Given the description of an element on the screen output the (x, y) to click on. 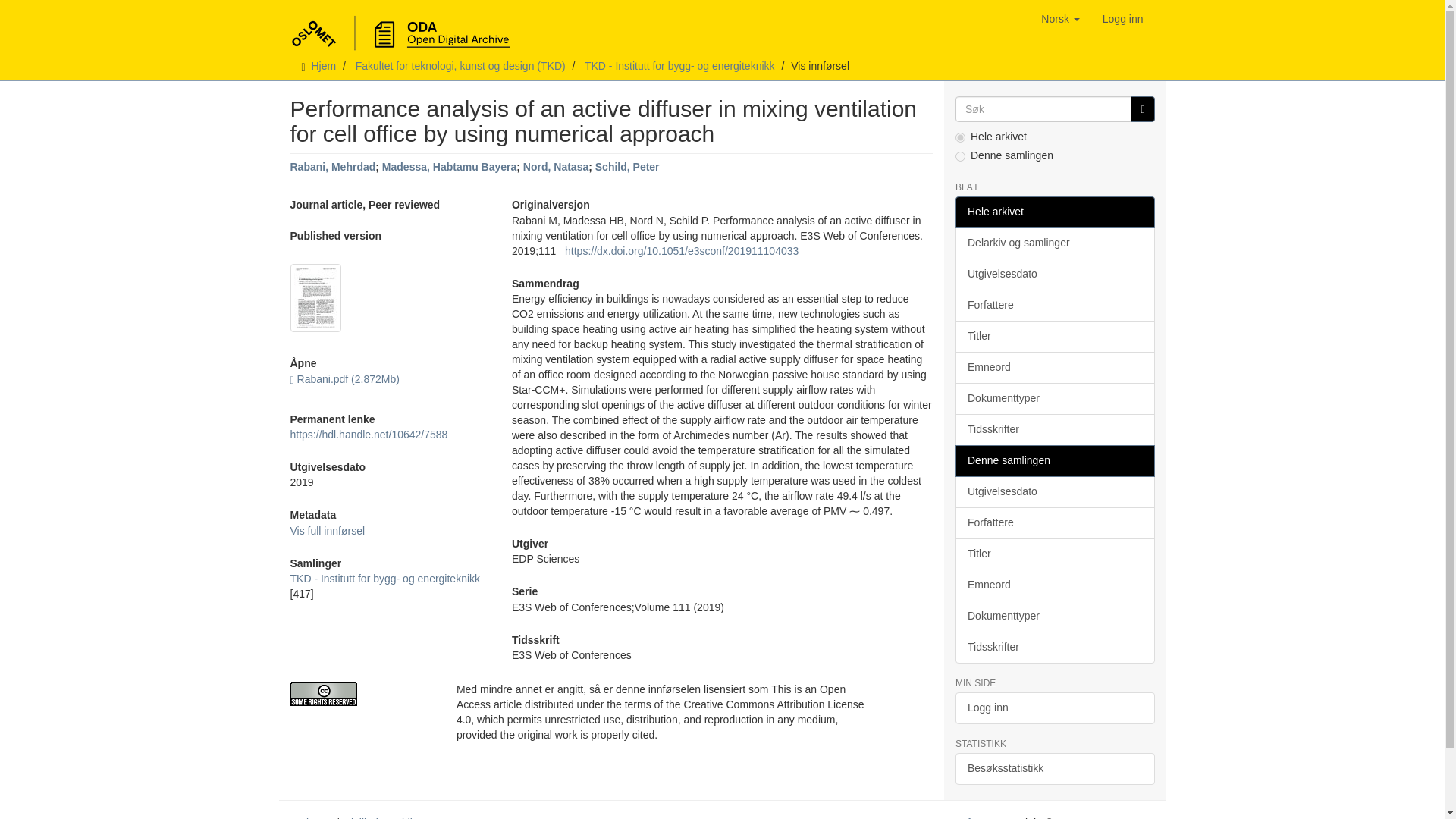
Hele arkivet (1054, 212)
Hjem (323, 65)
TKD - Institutt for bygg- og energiteknikk (679, 65)
Norsk  (1059, 18)
Utgivelsesdato (1054, 274)
Rabani, Mehrdad (332, 166)
Logg inn (1122, 18)
Madessa, Habtamu Bayera (448, 166)
Delarkiv og samlinger (1054, 243)
Schild, Peter (627, 166)
TKD - Institutt for bygg- og energiteknikk (384, 578)
Nord, Natasa (555, 166)
